Given the description of an element on the screen output the (x, y) to click on. 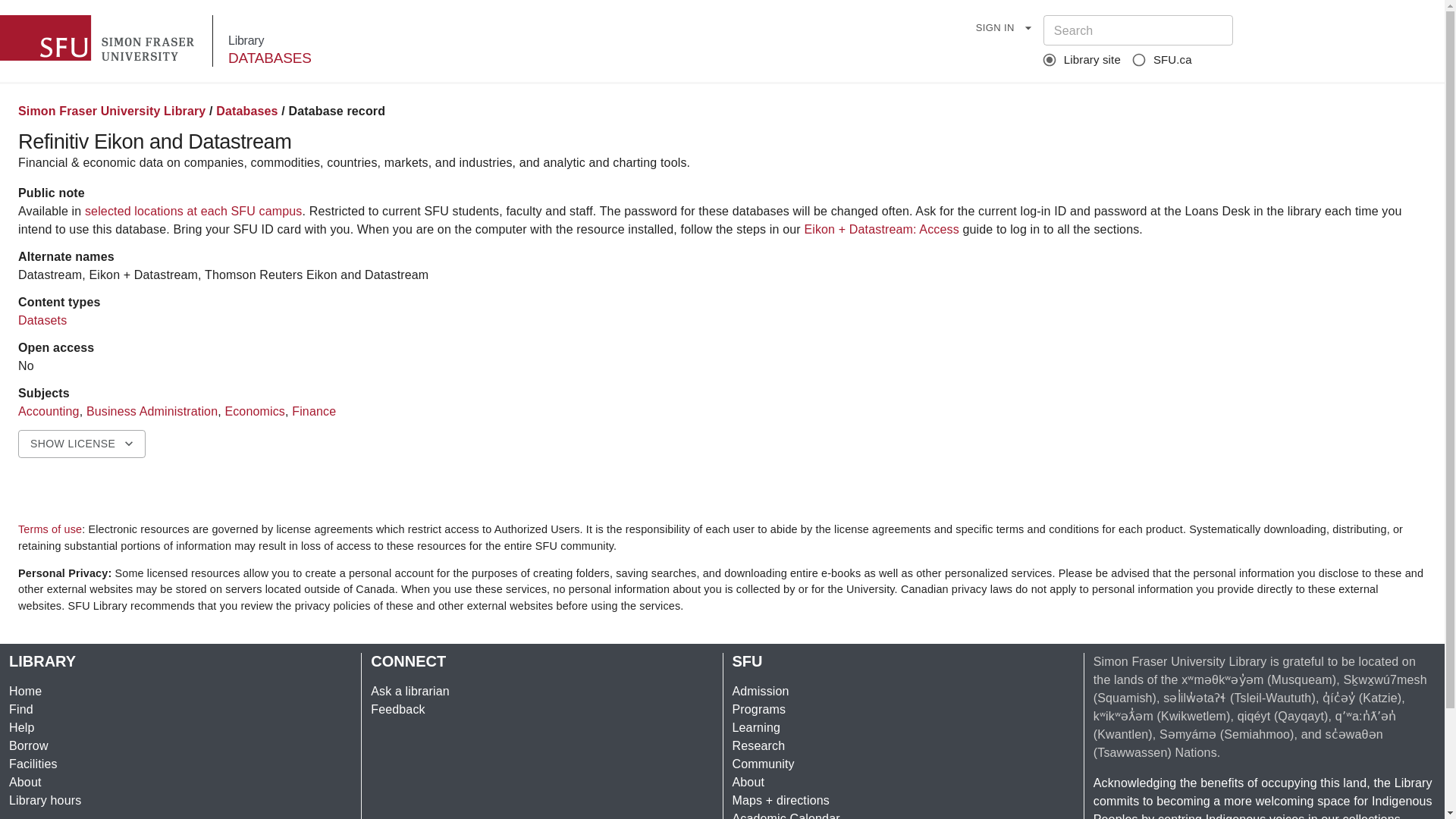
SIGN IN (1004, 28)
Datasets (41, 319)
Community (763, 763)
Home (25, 690)
Finance (314, 410)
Databases (246, 110)
Simon Fraser University (98, 37)
Admission (760, 690)
About (748, 781)
Research (759, 745)
